Given the description of an element on the screen output the (x, y) to click on. 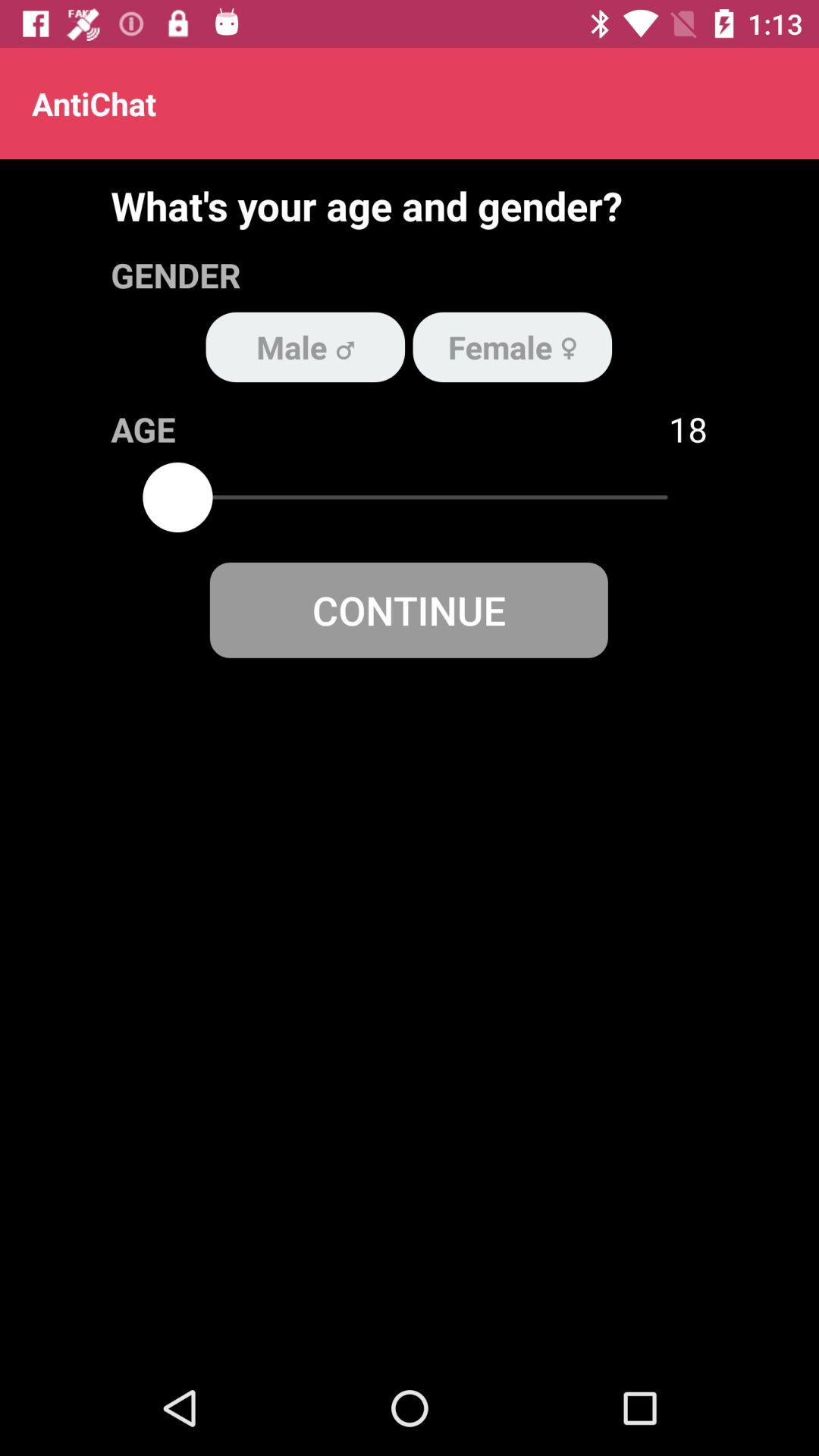
click the item below the gender item (304, 347)
